Given the description of an element on the screen output the (x, y) to click on. 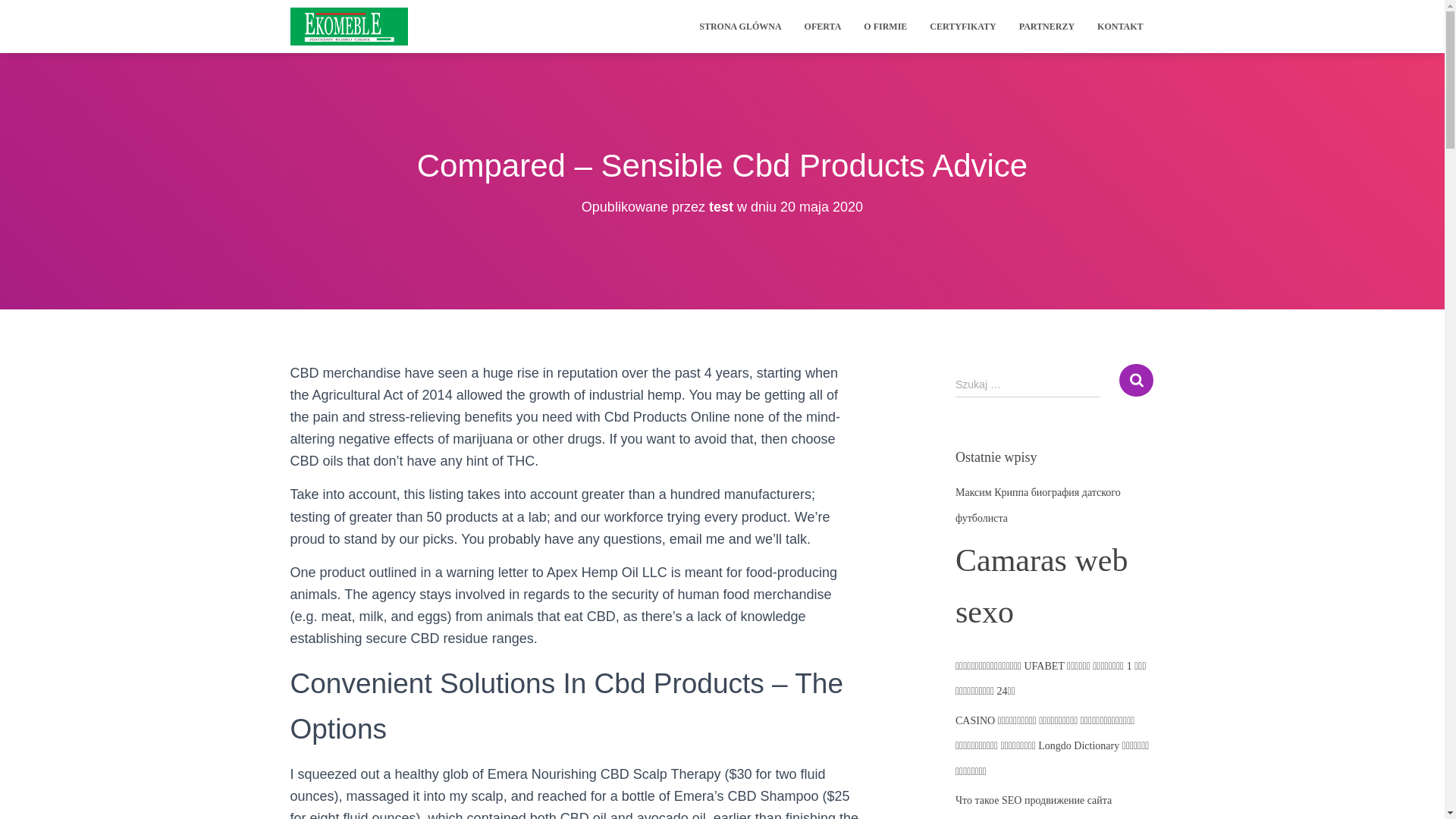
Szukaj (1136, 379)
test (721, 206)
OFERTA (823, 26)
Szukaj (1136, 379)
Oferta (823, 26)
O firmie (884, 26)
KONTAKT (1120, 26)
PARTNERZY (1046, 26)
O FIRMIE (884, 26)
Partnerzy (1046, 26)
